Given the description of an element on the screen output the (x, y) to click on. 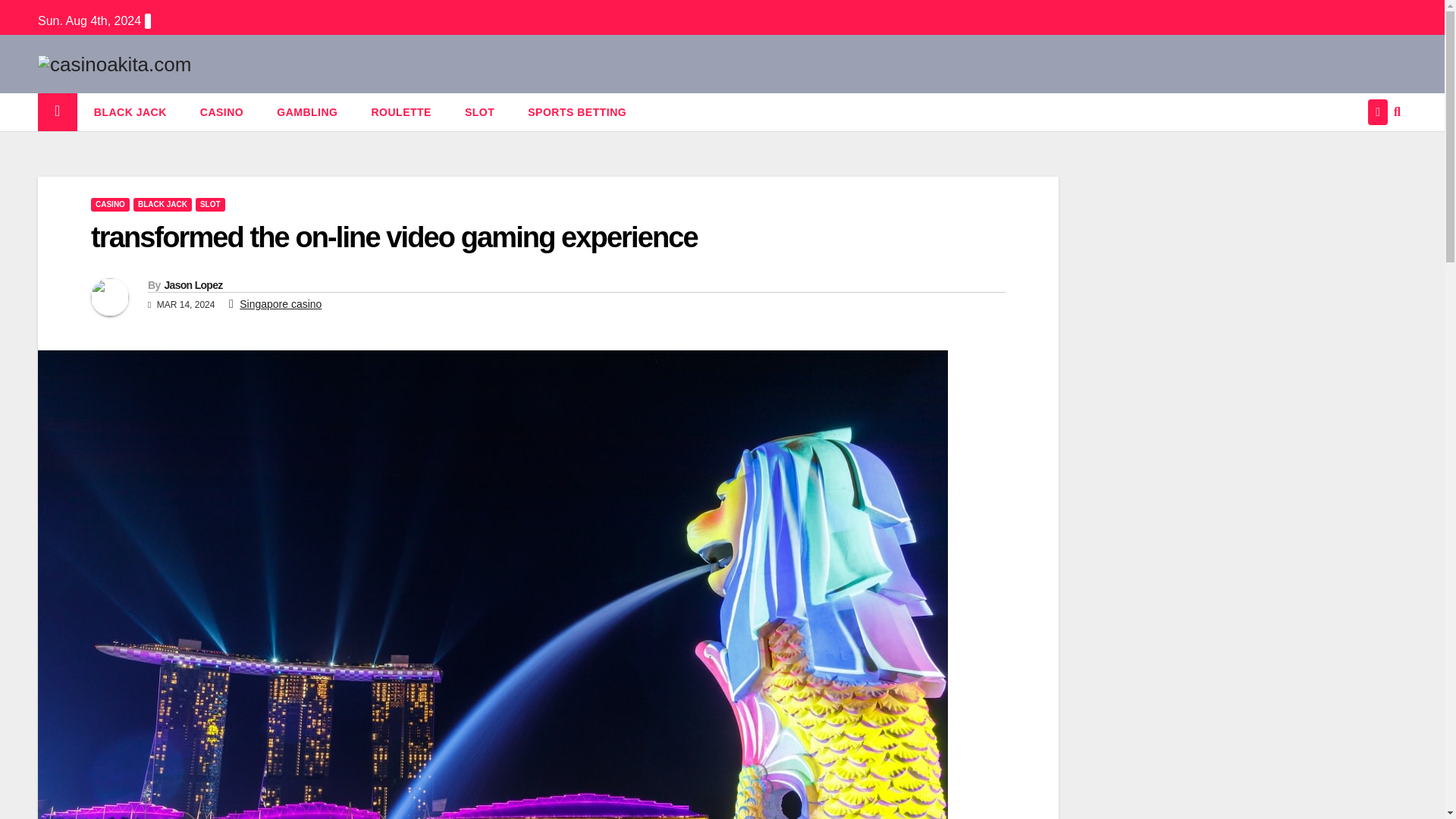
BLACK JACK (130, 112)
SPORTS BETTING (577, 112)
CASINO (109, 204)
Jason Lopez (192, 285)
transformed the on-line video gaming experience (393, 237)
BLACK JACK (162, 204)
BLACK JACK (130, 112)
GAMBLING (306, 112)
SPORTS BETTING (577, 112)
Singapore casino (280, 304)
ROULETTE (399, 112)
CASINO (221, 112)
SLOT (479, 112)
CASINO (221, 112)
